Given the description of an element on the screen output the (x, y) to click on. 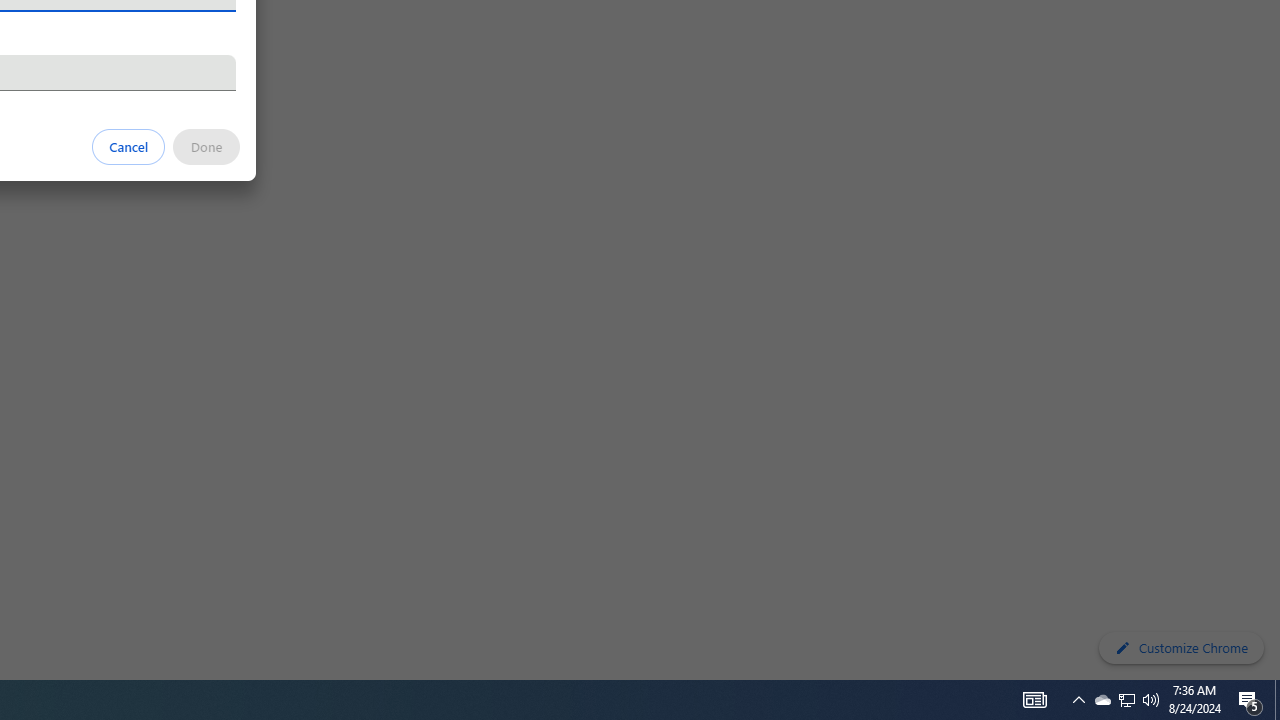
Done (206, 146)
Cancel (129, 146)
